Given the description of an element on the screen output the (x, y) to click on. 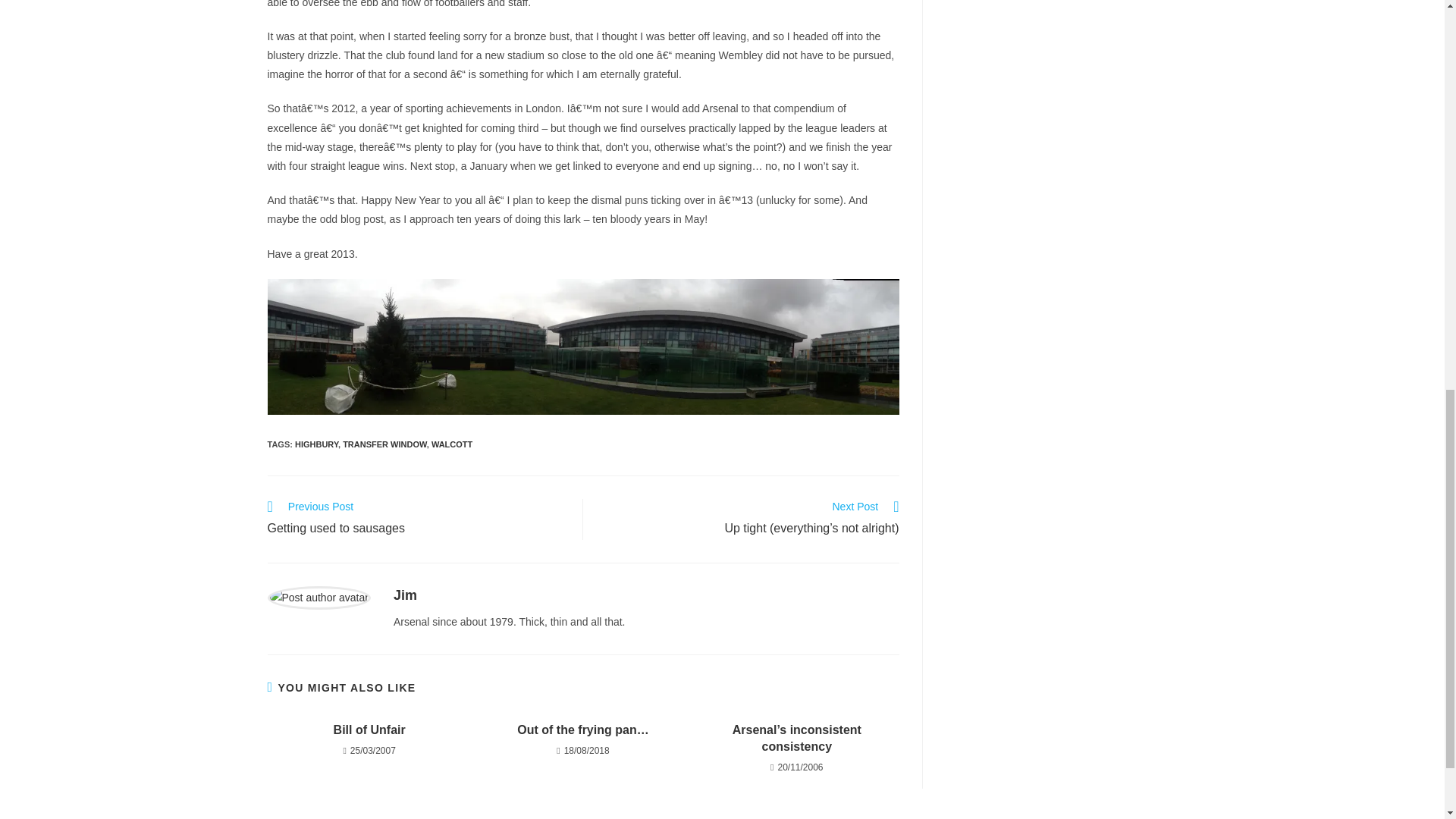
Visit author page (317, 596)
Visit author page (416, 518)
WALCOTT (404, 595)
Bill of Unfair (450, 443)
HIGHBURY (368, 729)
Jim (316, 443)
TRANSFER WINDOW (404, 595)
